Given the description of an element on the screen output the (x, y) to click on. 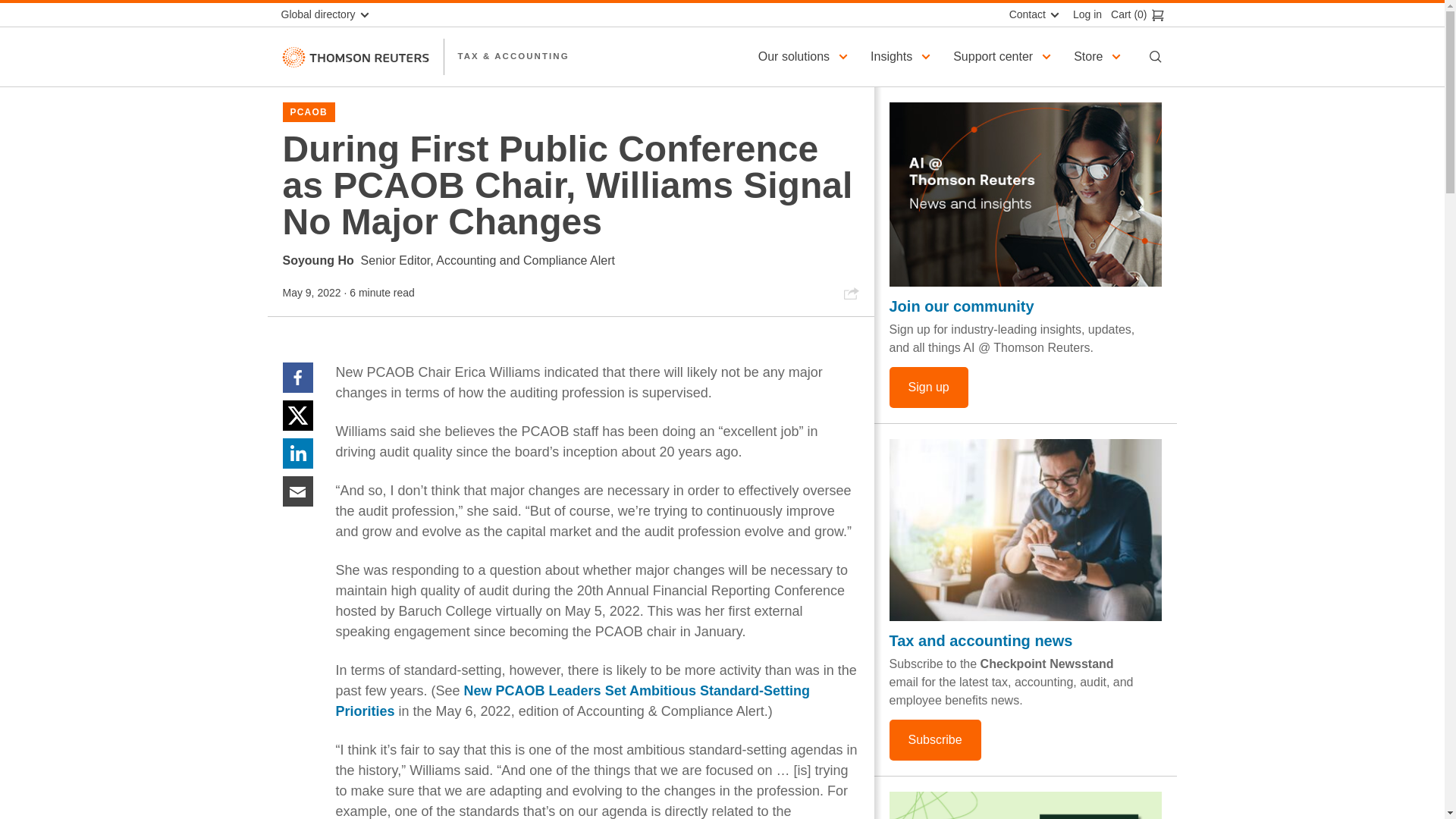
Linkedin (297, 452)
Contact (1032, 14)
May 9, 2022 (311, 292)
Banner Ad - TR Careers (1024, 805)
Log in (1083, 14)
Email (297, 490)
Global directory (331, 14)
Thomson Reuters (355, 56)
Twitter (297, 414)
Facebook (297, 377)
Our solutions (805, 56)
